Given the description of an element on the screen output the (x, y) to click on. 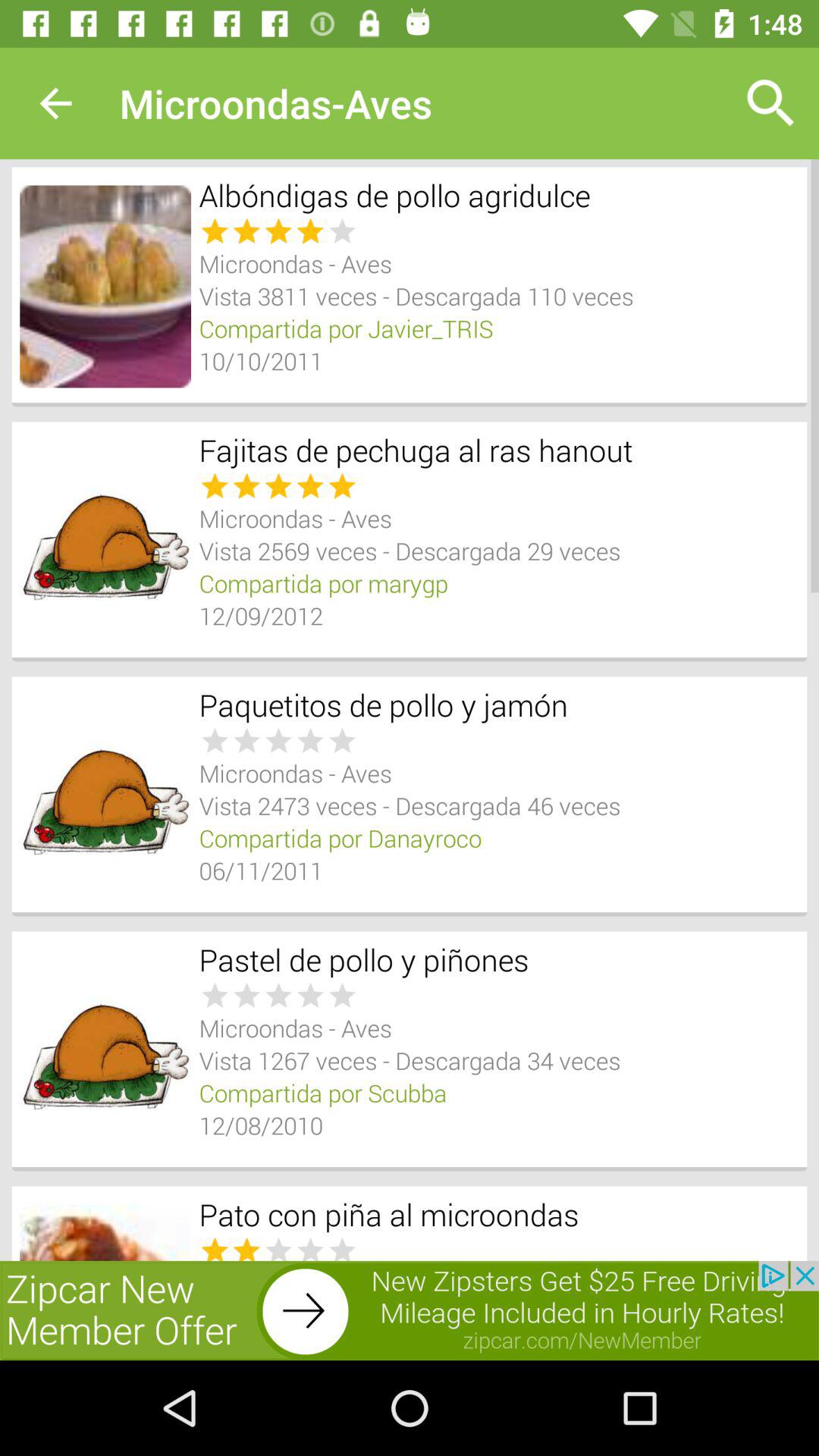
advertisement banner (409, 1310)
